Given the description of an element on the screen output the (x, y) to click on. 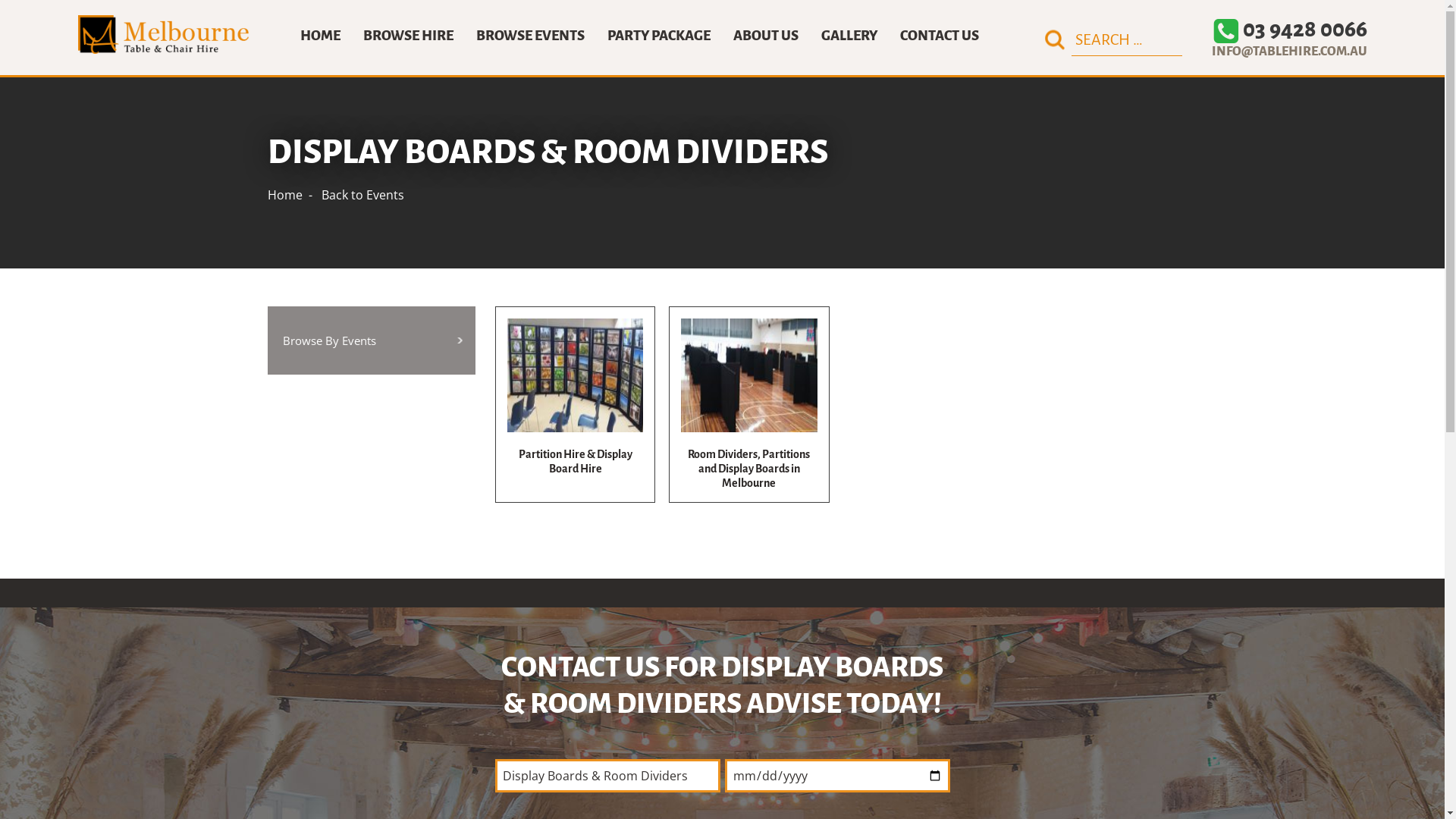
Back to Events Element type: text (362, 194)
BROWSE EVENTS Element type: text (530, 35)
Search Element type: text (1054, 38)
03 9428 0066 Element type: text (1290, 29)
Browse By Events Element type: text (370, 340)
Room Dividers, Partitions and Display Boards in Melbourne Element type: text (748, 404)
logo-mtch-header Element type: hover (162, 34)
ABOUT US Element type: text (765, 35)
GALLERY Element type: text (849, 35)
INFO@TABLEHIRE.COM.AU Element type: text (1278, 51)
CONTACT US Element type: text (939, 35)
Home Element type: text (283, 194)
Search... Element type: hover (1125, 39)
PARTY PACKAGE Element type: text (658, 35)
BROWSE HIRE Element type: text (408, 35)
HOME Element type: text (320, 35)
Partition Hire & Display Board Hire Element type: text (575, 404)
